Given the description of an element on the screen output the (x, y) to click on. 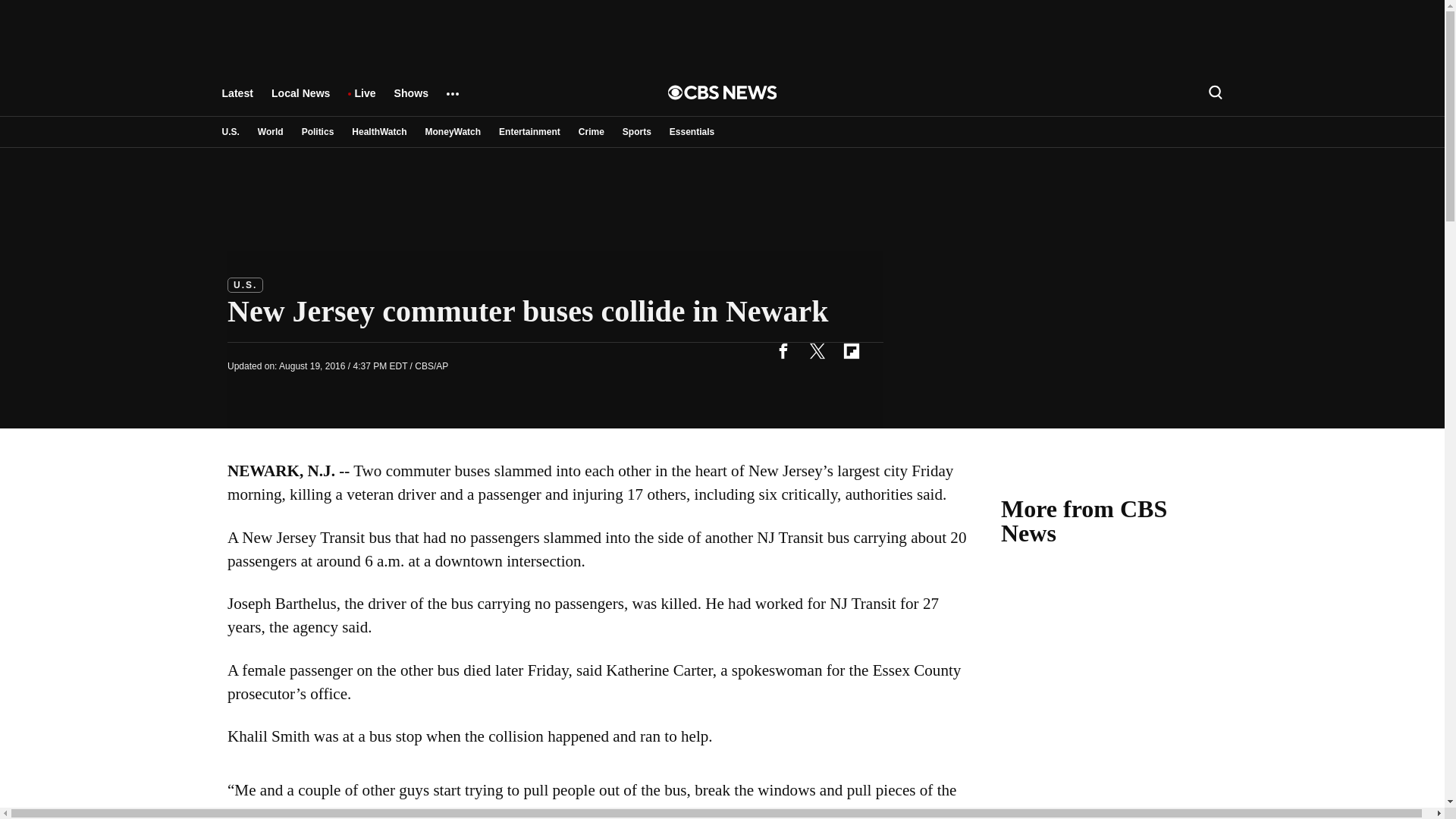
twitter (816, 350)
Live (364, 100)
facebook (782, 350)
flipboard (850, 350)
Latest (236, 100)
Local News (300, 100)
